Given the description of an element on the screen output the (x, y) to click on. 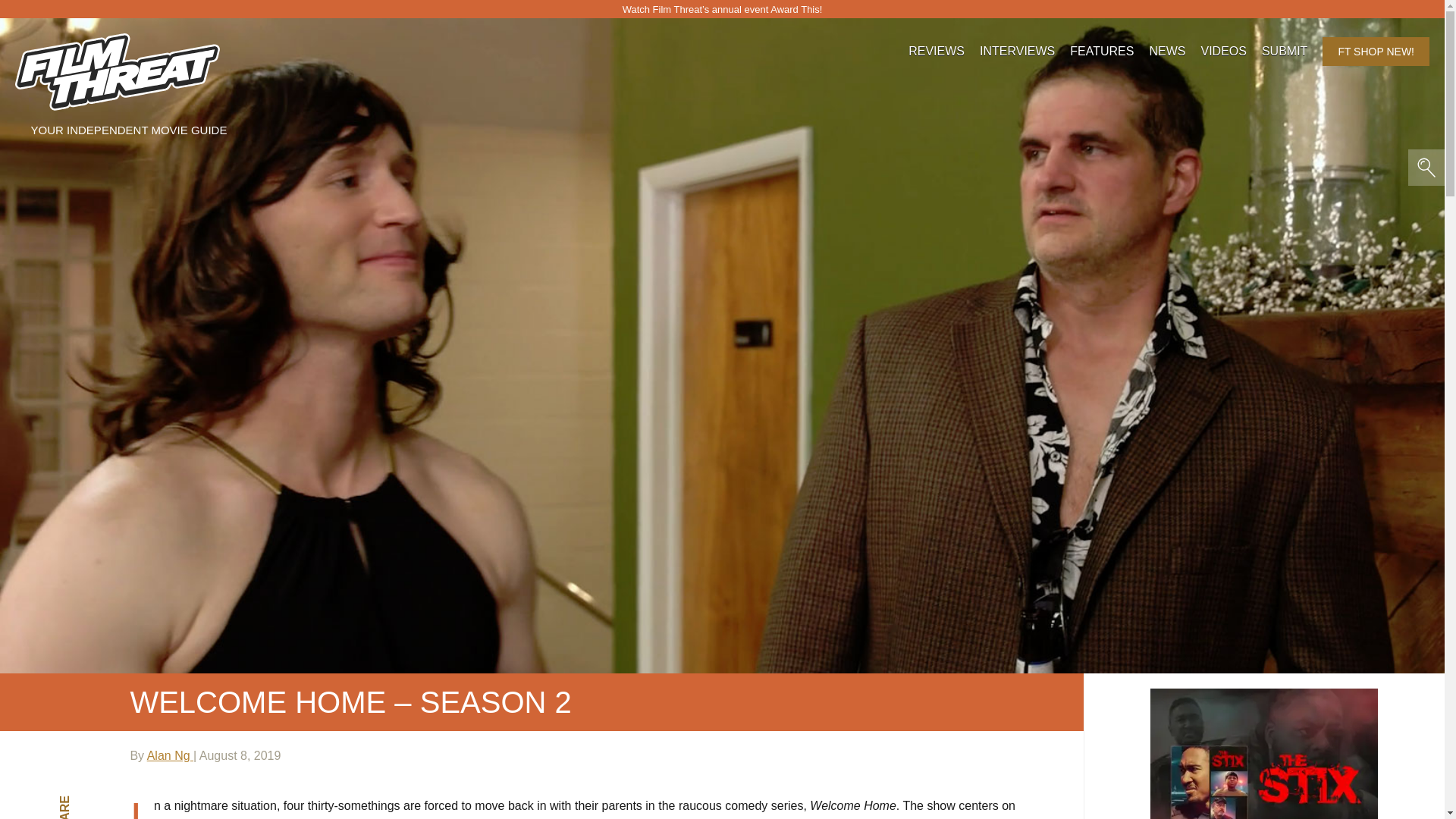
INTERVIEWS (1016, 51)
REVIEWS (935, 51)
FEATURES (1102, 51)
VIDEOS (1222, 51)
NEWS (1166, 51)
Alan Ng (170, 755)
FT SHOP NEW! (1375, 51)
Search (152, 24)
SUBMIT (1284, 51)
